Given the description of an element on the screen output the (x, y) to click on. 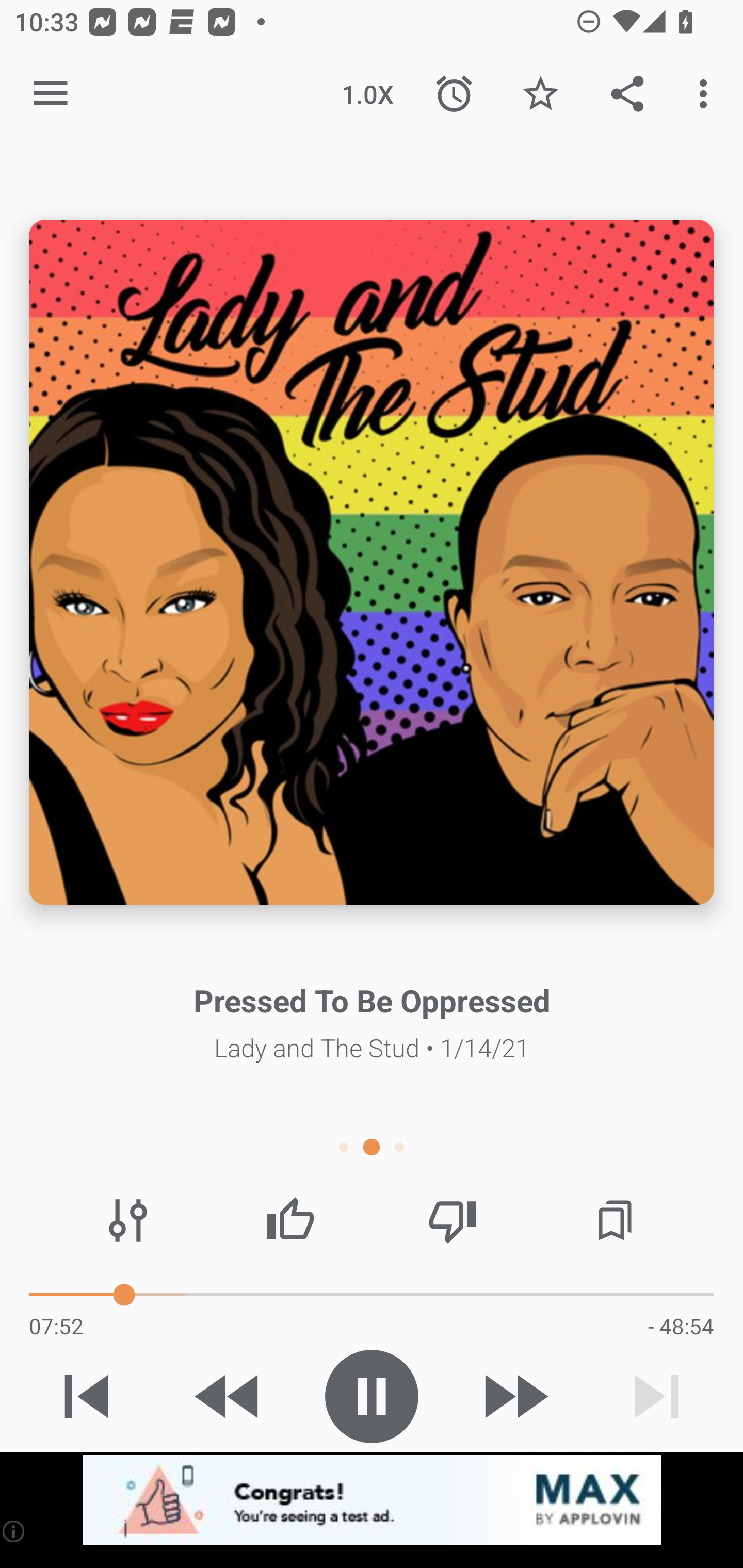
Open navigation sidebar (50, 93)
1.0X (366, 93)
Sleep Timer (453, 93)
Favorite (540, 93)
Share (626, 93)
More options (706, 93)
Episode description (371, 561)
Audio effects (127, 1220)
Thumbs up (290, 1220)
Thumbs down (452, 1220)
Chapters / Bookmarks (614, 1220)
- 48:54 (680, 1325)
Previous track (86, 1395)
Skip 15s backward (228, 1395)
Play / Pause (371, 1395)
Skip 30s forward (513, 1395)
Next track (656, 1395)
app-monetization (371, 1500)
(i) (14, 1531)
